Given the description of an element on the screen output the (x, y) to click on. 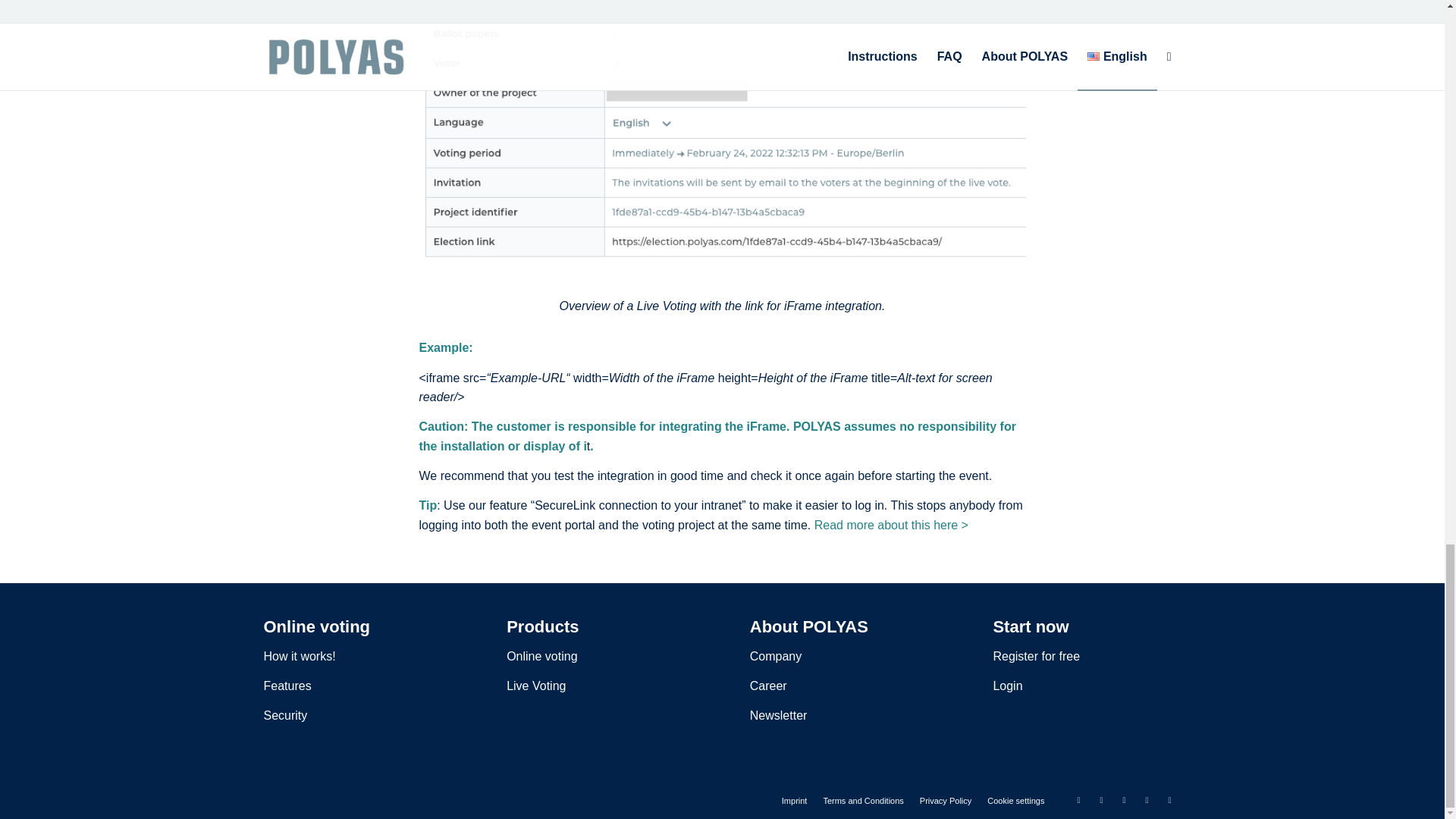
Company (775, 656)
Instagram (1146, 799)
Security (285, 715)
Career (768, 685)
Newsletter (778, 715)
How it works! (299, 656)
Online voting (541, 656)
LinkedIn (1124, 799)
Twitter (1078, 799)
Youtube (1169, 799)
Live Voting (536, 685)
Facebook (1101, 799)
Features (287, 685)
